Given the description of an element on the screen output the (x, y) to click on. 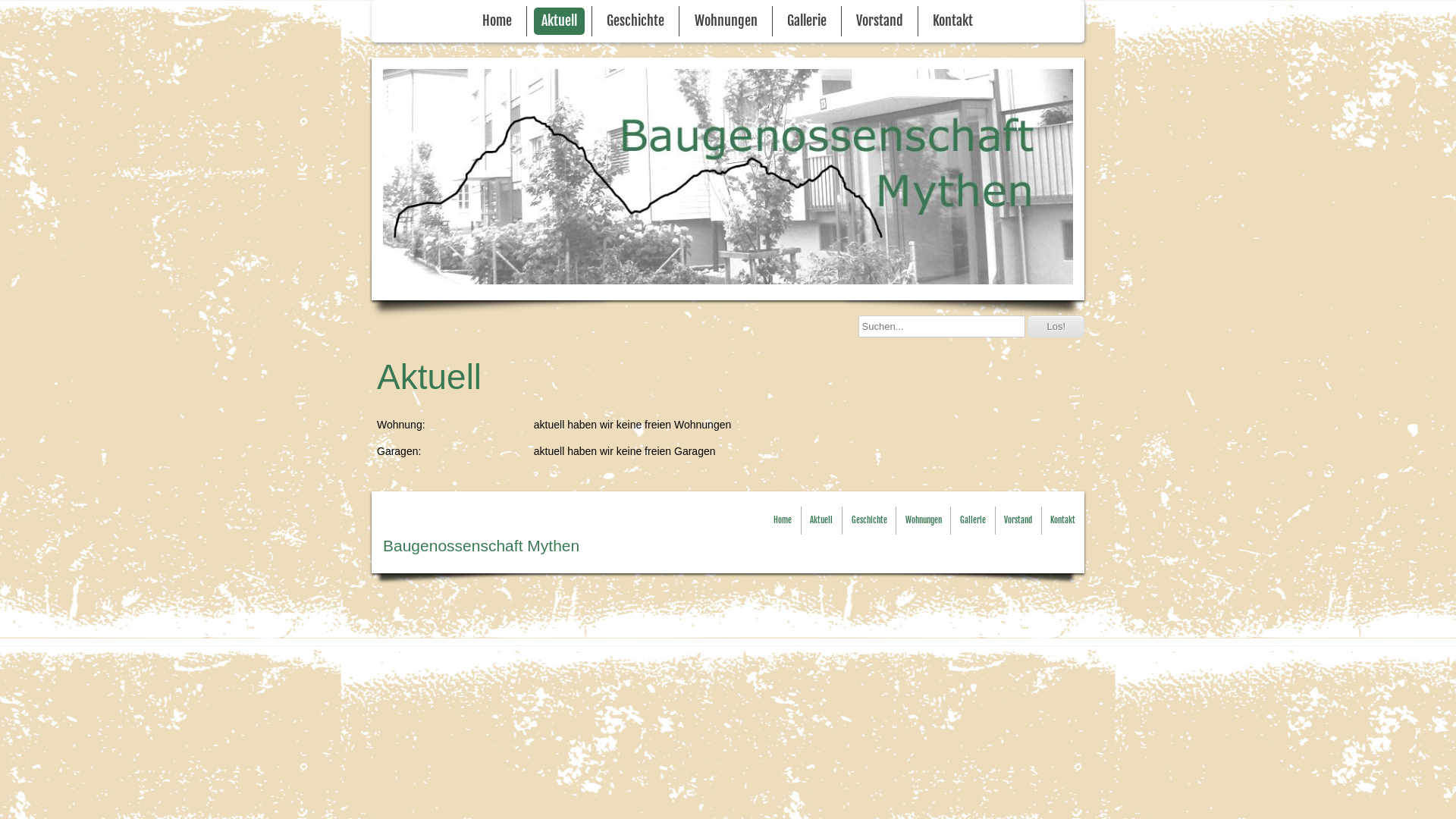
Geschichte Element type: text (635, 20)
Wohnungen Element type: text (726, 20)
Wohnungen Element type: text (923, 520)
Vorstand Element type: text (1017, 520)
Home Element type: text (496, 20)
Aktuell Element type: text (558, 20)
Aktuell Element type: text (821, 520)
Home Element type: text (782, 520)
Los! Element type: text (1055, 326)
Geschichte Element type: text (869, 520)
Gallerie Element type: text (806, 20)
Gallerie Element type: text (972, 520)
Kontakt Element type: text (1062, 520)
Vorstand Element type: text (879, 20)
Kontakt Element type: text (952, 20)
